Given the description of an element on the screen output the (x, y) to click on. 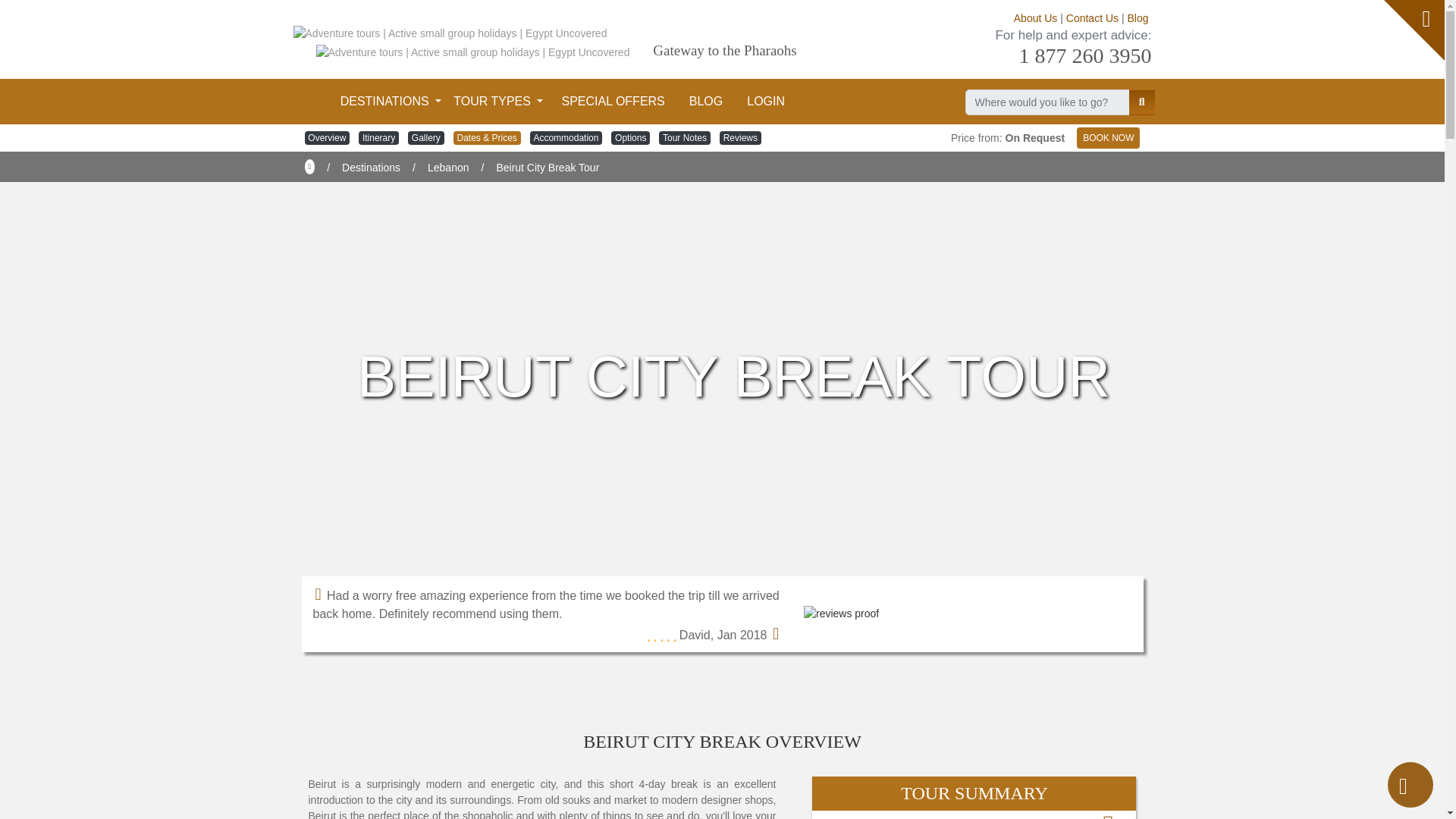
BLOG (706, 103)
LOGIN (765, 103)
Contact Us (1091, 18)
SPECIAL OFFERS (612, 103)
DESTINATIONS (391, 103)
TOUR TYPES (497, 103)
About Us (1035, 18)
Blog (1137, 18)
